Given the description of an element on the screen output the (x, y) to click on. 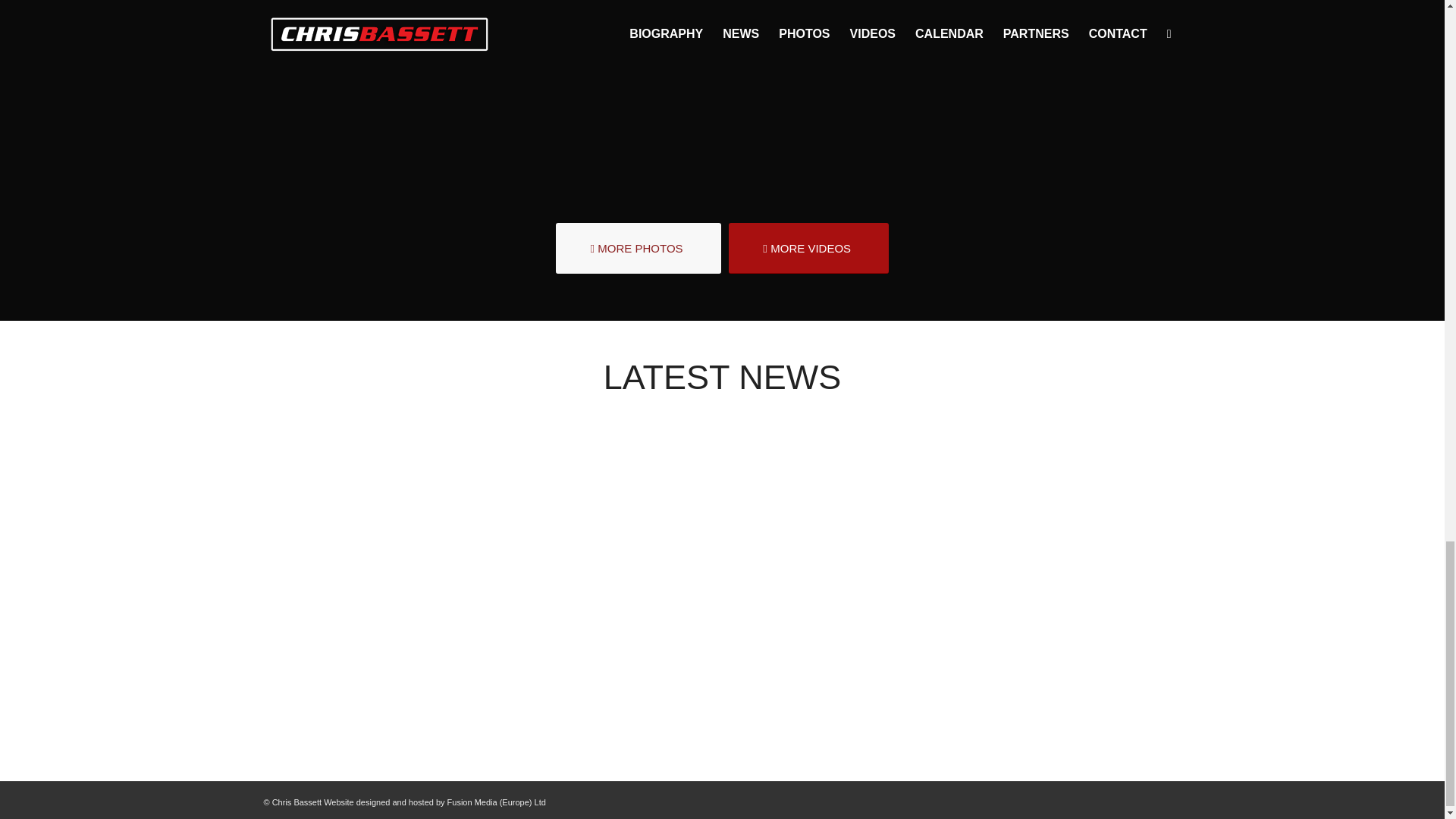
MORE PHOTOS (638, 247)
MORE VIDEOS (808, 247)
